Given the description of an element on the screen output the (x, y) to click on. 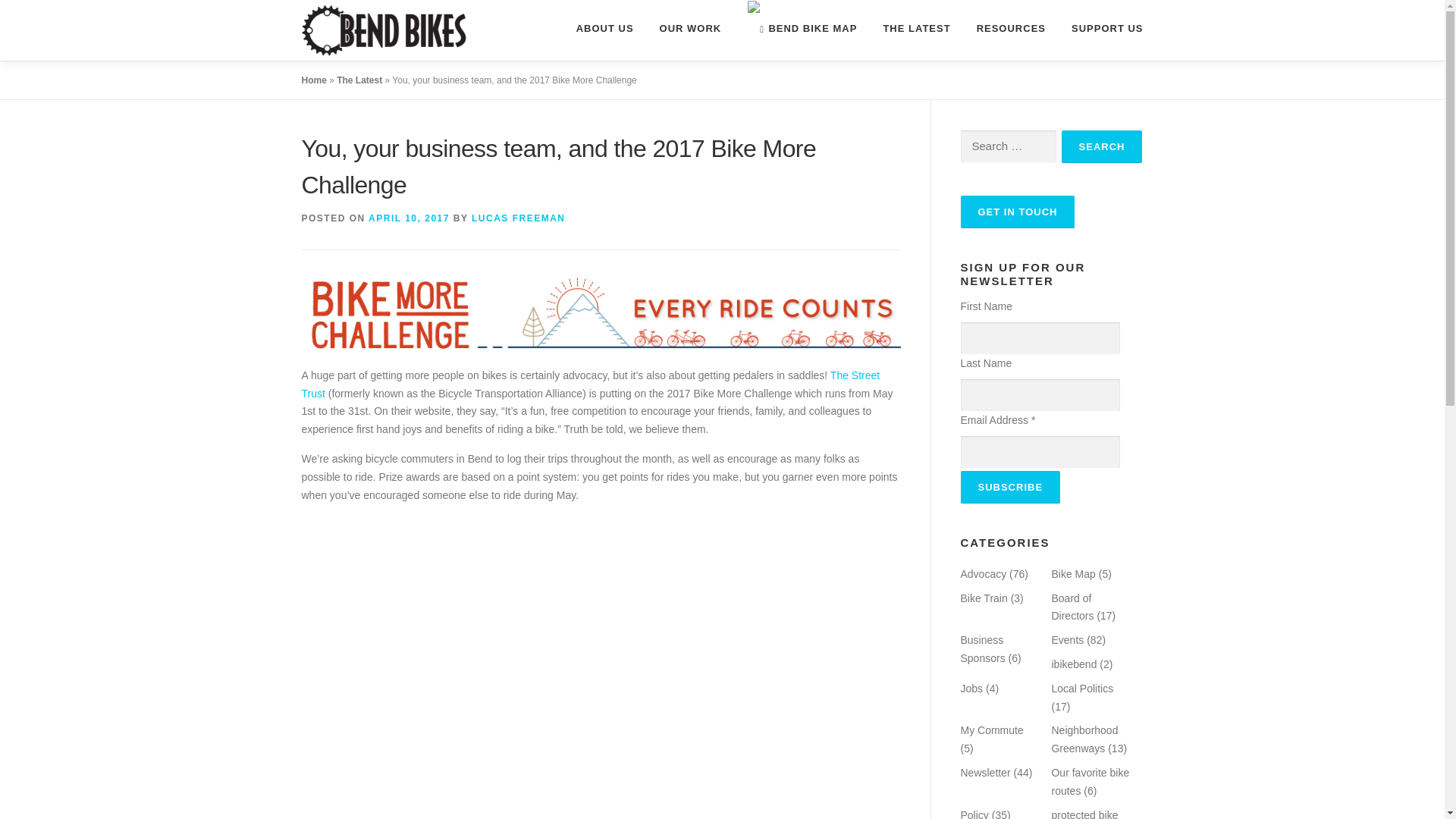
Home (313, 80)
RESOURCES (1010, 28)
LUCAS FREEMAN (518, 217)
OUR WORK (690, 28)
Search (1101, 146)
BEND BIKE MAP (801, 28)
The Street Trust (590, 384)
GET IN TOUCH (1016, 211)
Search (1101, 146)
SUPPORT US (1100, 28)
Advocacy (982, 573)
The Latest (358, 80)
Bike Train (983, 598)
ABOUT US (604, 28)
Bike Map (1072, 573)
